Given the description of an element on the screen output the (x, y) to click on. 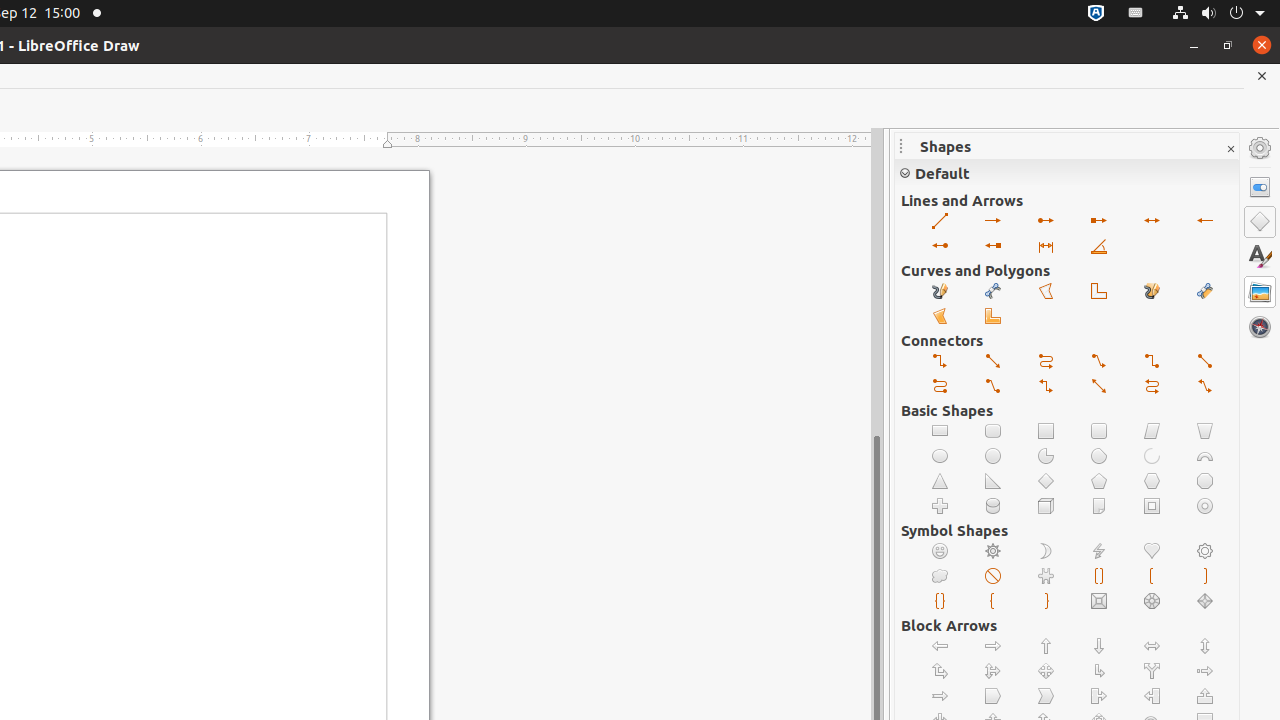
Striped Right Arrow Element type: list-item (1205, 671)
Parallelogram Element type: list-item (1152, 431)
Curved Connector Element type: list-item (940, 386)
Square Bevel Element type: list-item (1099, 601)
Heart Element type: list-item (1152, 551)
